Given the description of an element on the screen output the (x, y) to click on. 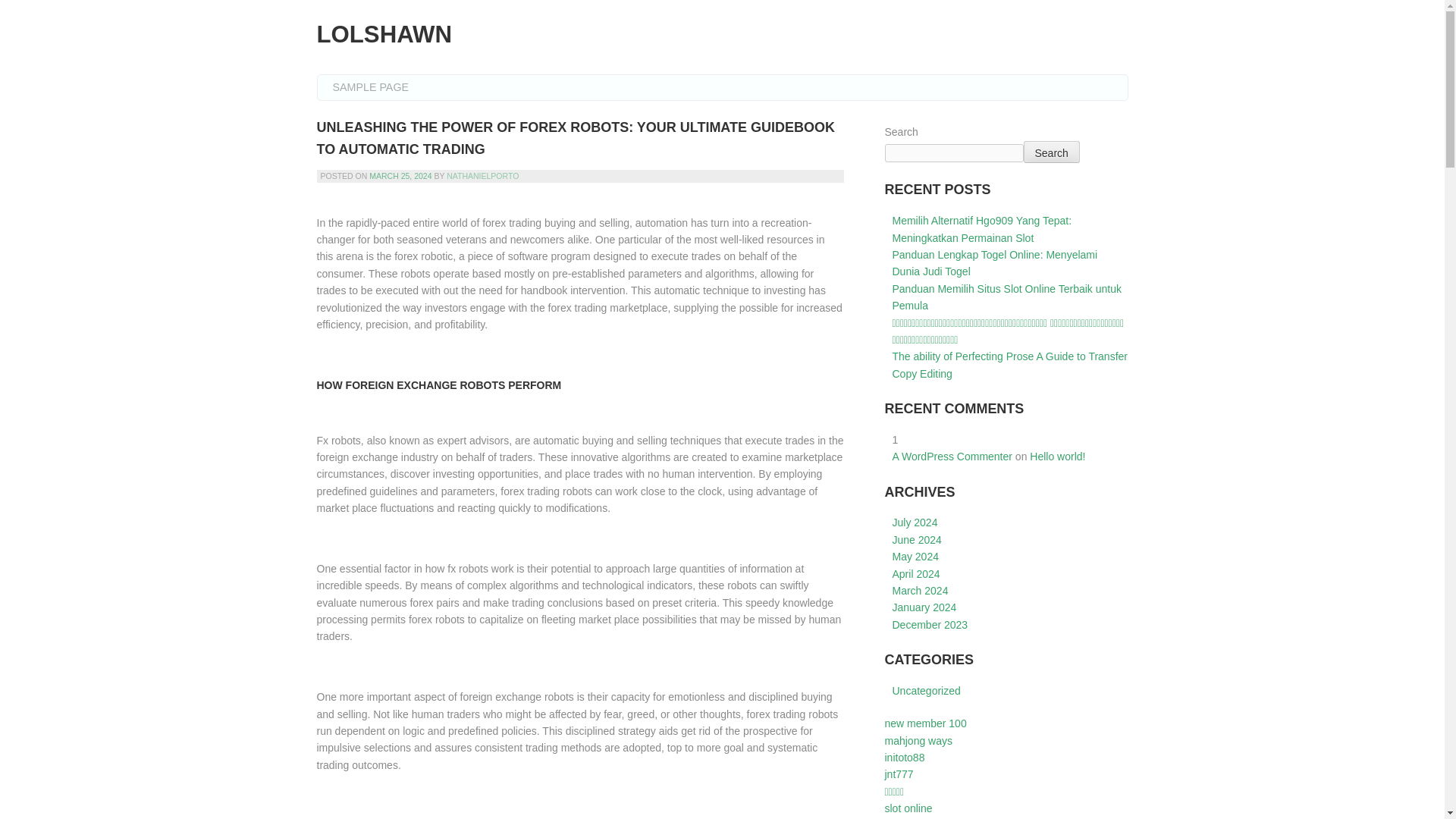
A WordPress Commenter (951, 456)
Hello world! (1056, 456)
Uncategorized (925, 690)
Panduan Memilih Situs Slot Online Terbaik untuk Pemula (1006, 297)
December 2023 (929, 624)
NATHANIELPORTO (482, 175)
June 2024 (915, 539)
July 2024 (914, 522)
Search (1051, 151)
initoto88 (903, 757)
jnt777 (897, 774)
mahjong ways (917, 740)
Panduan Lengkap Togel Online: Menyelami Dunia Judi Togel (994, 262)
